Given the description of an element on the screen output the (x, y) to click on. 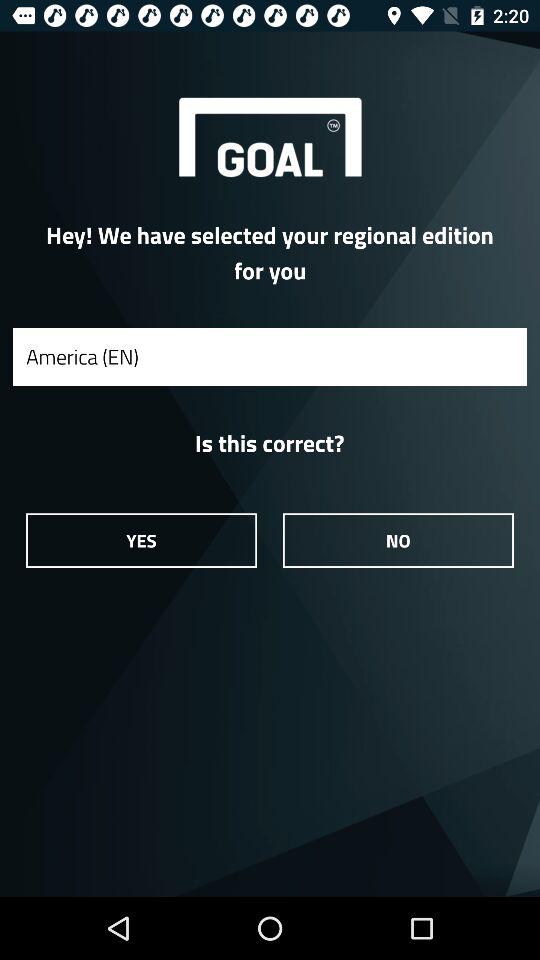
swipe until america (en) icon (269, 356)
